Given the description of an element on the screen output the (x, y) to click on. 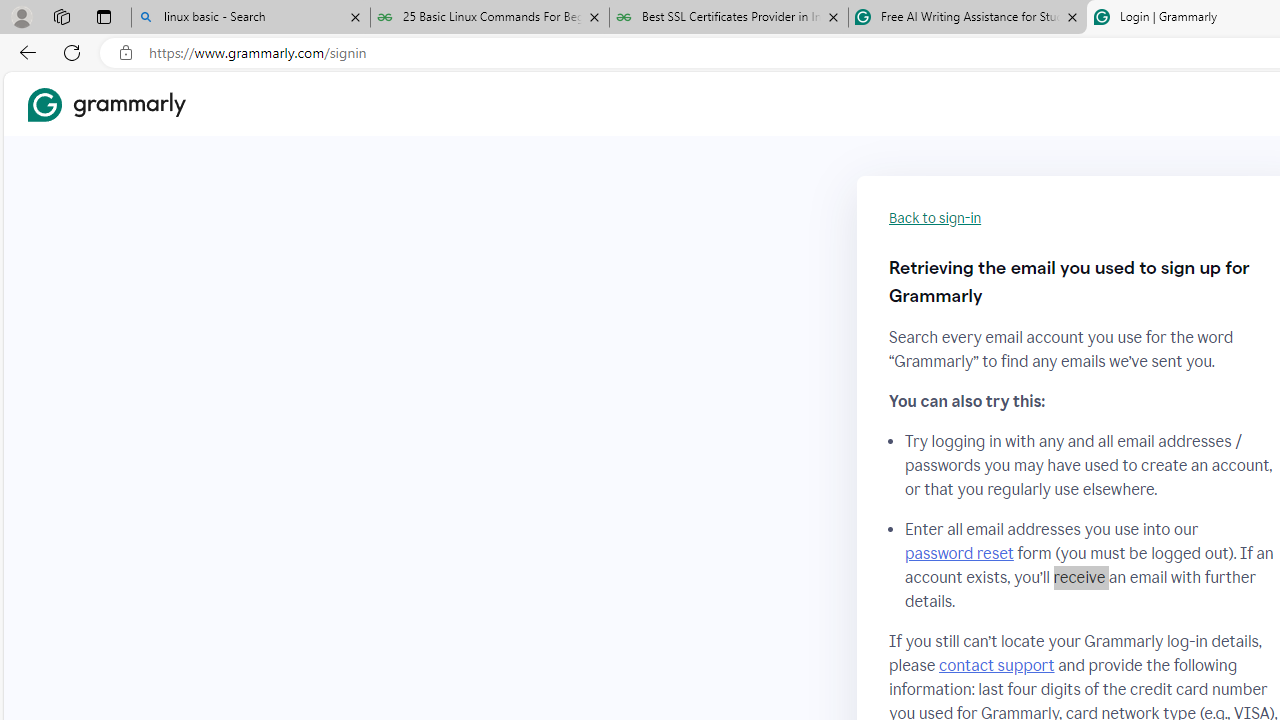
password reset (958, 553)
Free AI Writing Assistance for Students | Grammarly (967, 17)
contact support (996, 665)
Grammarly Home (106, 104)
Grammarly Home (106, 103)
Back to sign-in (935, 218)
25 Basic Linux Commands For Beginners - GeeksforGeeks (490, 17)
linux basic - Search (250, 17)
Best SSL Certificates Provider in India - GeeksforGeeks (729, 17)
